Given the description of an element on the screen output the (x, y) to click on. 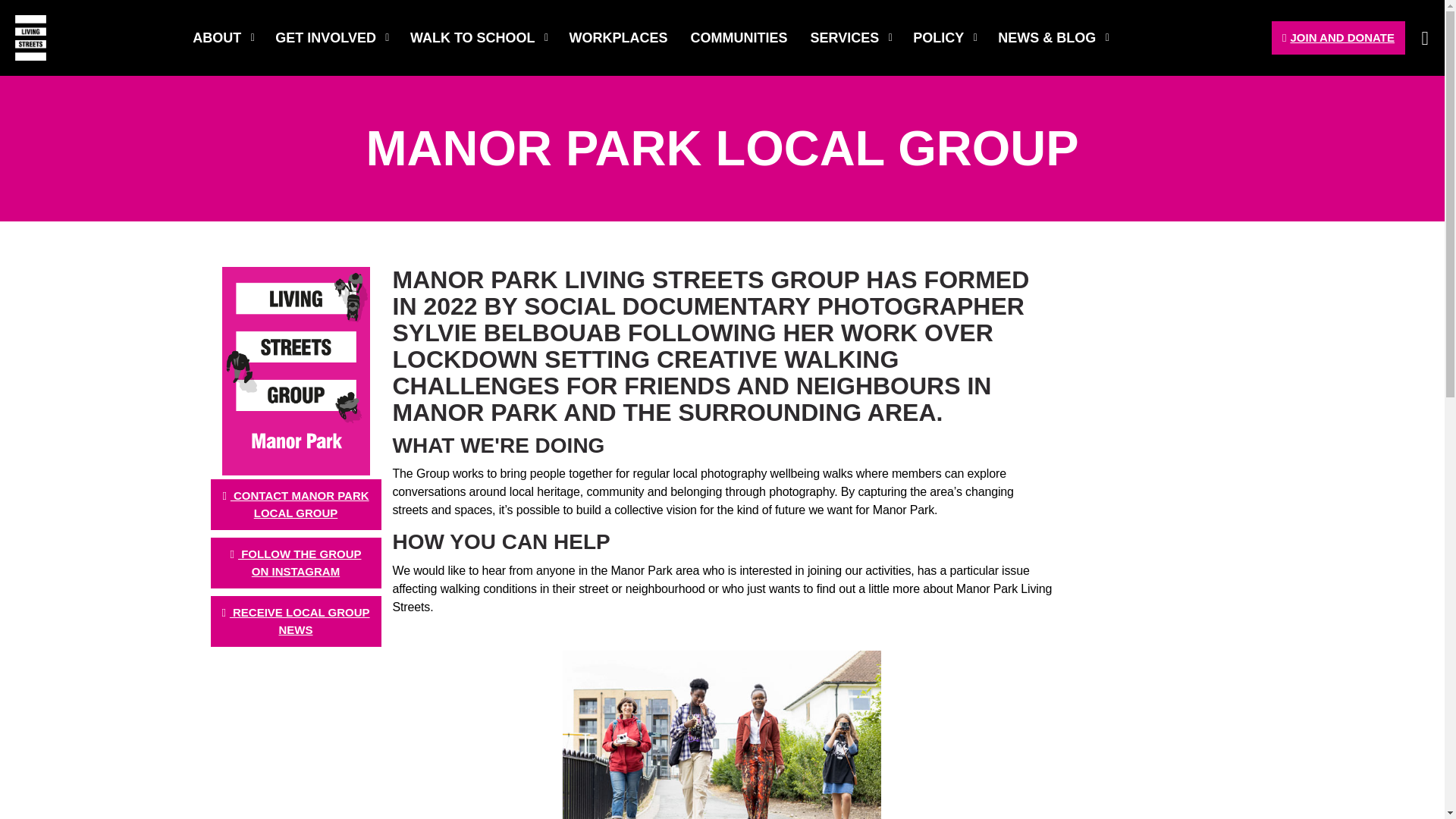
WALK TO SCHOOL (477, 38)
SERVICES (850, 38)
GET INVOLVED (330, 38)
WORKPLACES (618, 38)
ABOUT (221, 38)
COMMUNITIES (739, 38)
